Given the description of an element on the screen output the (x, y) to click on. 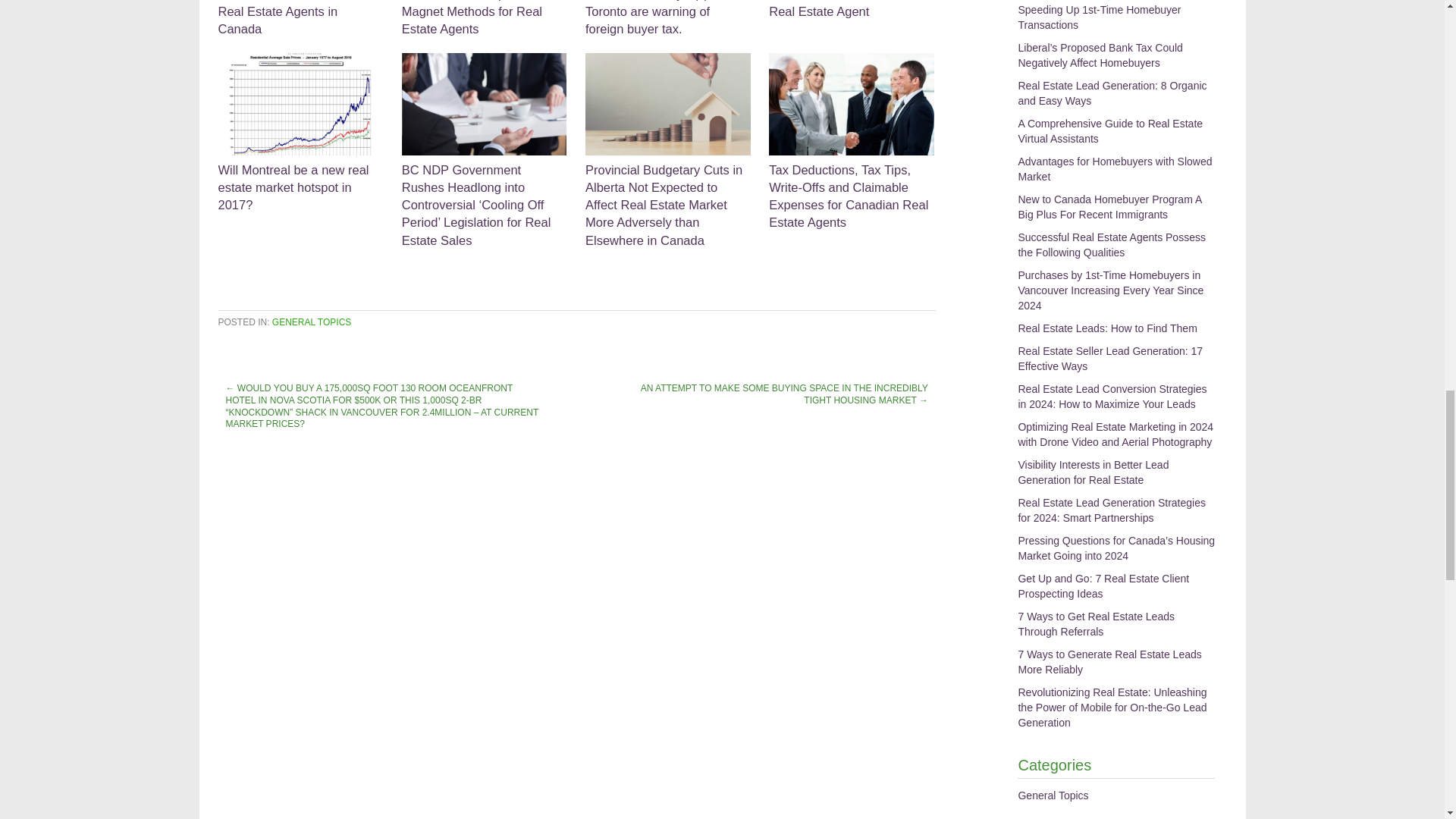
What Clients Want from Their Real Estate Agent (851, 9)
15 Lead Sources for New Real Estate Agents in Canada (301, 18)
Will Montreal be a new real estate market hotspot in 2017? (301, 133)
Consensus 11 Top Lead Magnet Methods for Real Estate Agents (484, 18)
15 Lead Sources for New Real Estate Agents in Canada (301, 18)
What Clients Want from Their Real Estate Agent (851, 9)
GENERAL TOPICS (311, 321)
Will Montreal be a new real estate market hotspot in 2017? (301, 133)
Consensus 11 Top Lead Magnet Methods for Real Estate Agents (484, 18)
